Given the description of an element on the screen output the (x, y) to click on. 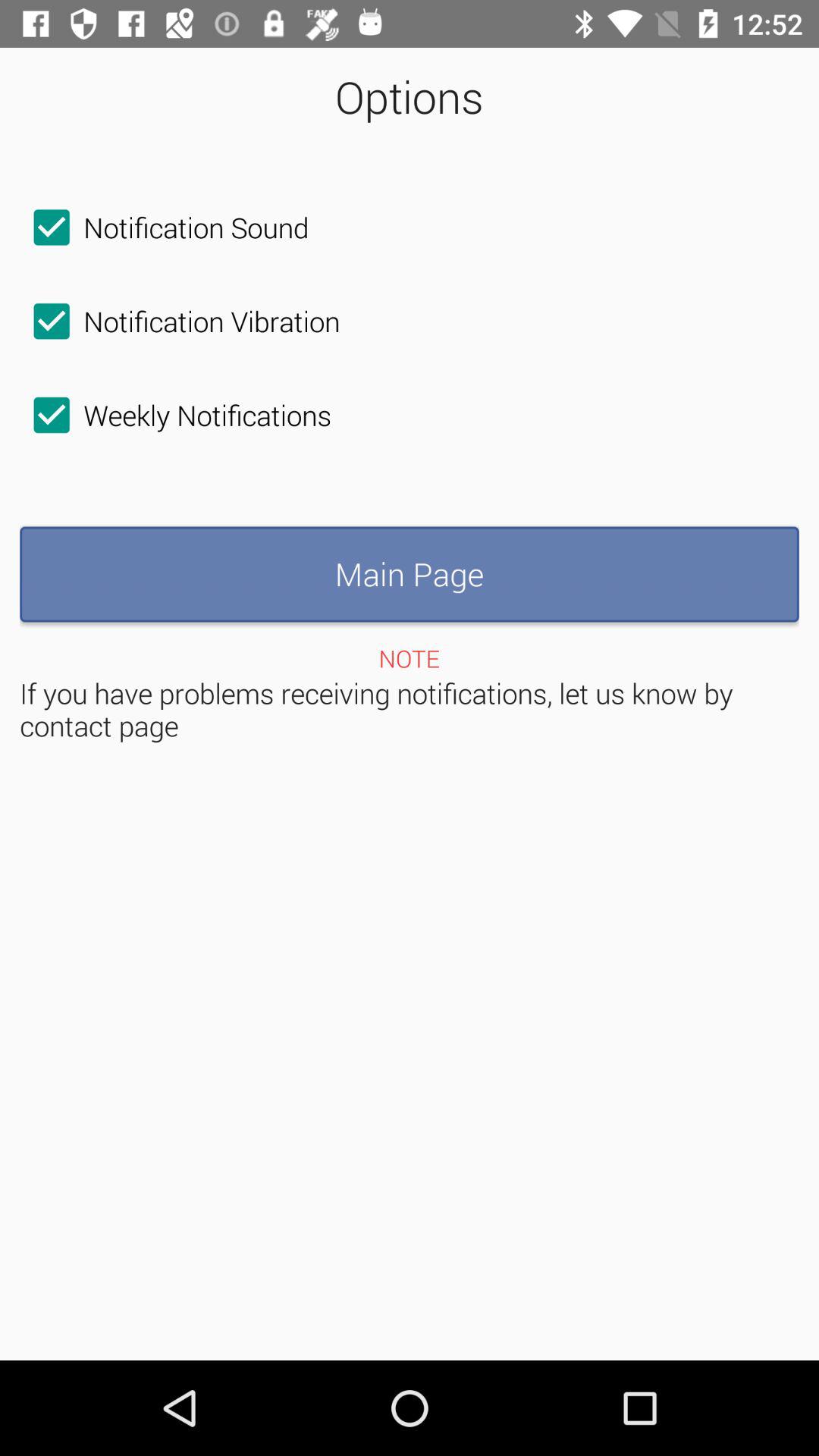
choose the checkbox above the weekly notifications icon (179, 321)
